Given the description of an element on the screen output the (x, y) to click on. 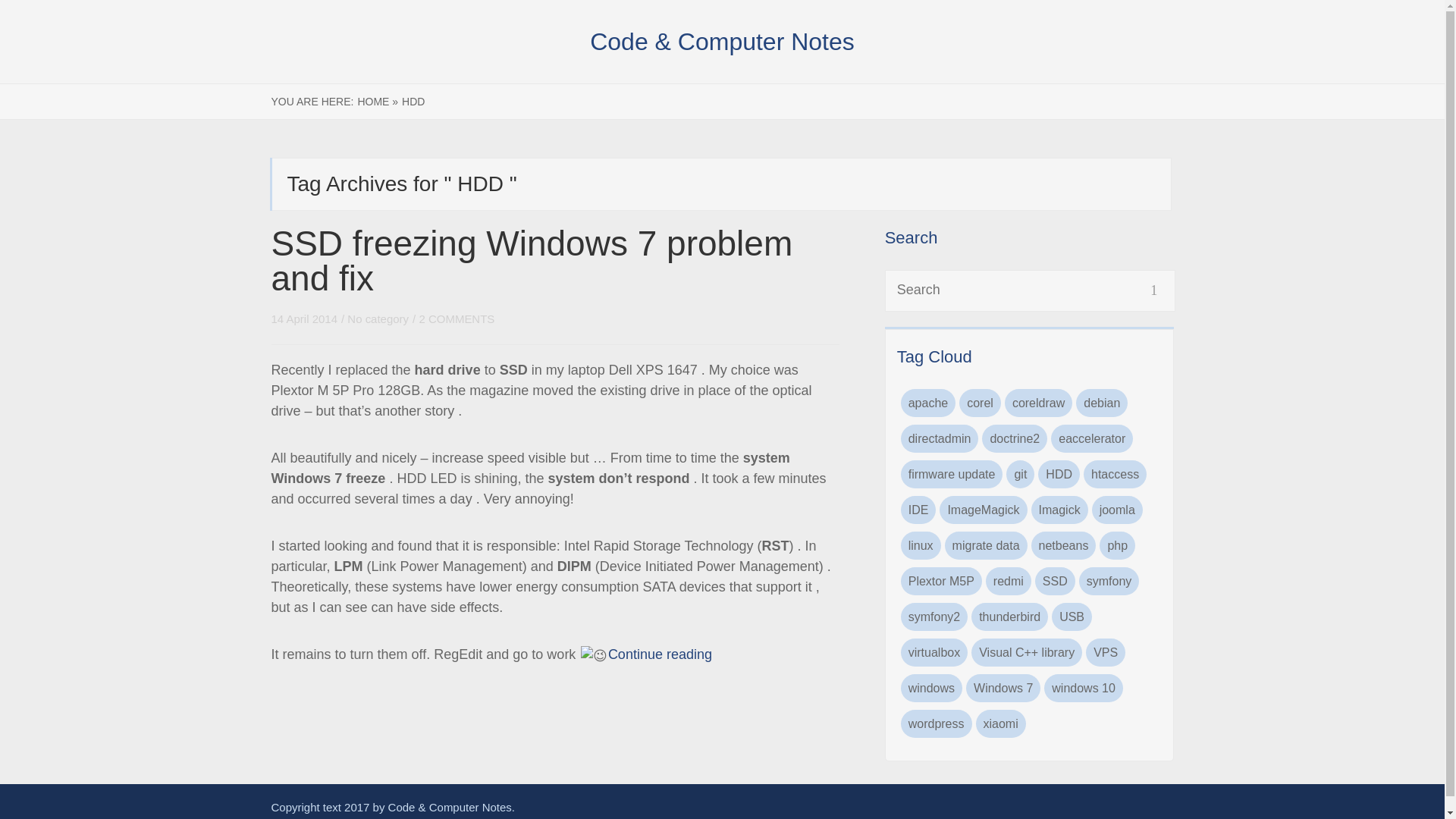
firmware update (952, 474)
SSD freezing Windows 7 problem and fix (531, 260)
symfony2 (934, 616)
php (1117, 545)
windows (931, 687)
symfony (1109, 581)
coreldraw (1037, 402)
USB (1071, 616)
2 COMMENTS (457, 318)
corel (980, 402)
Plextor M5P (941, 581)
Imagick (1058, 510)
migrate data (985, 545)
VPS (1105, 652)
redmi (1007, 581)
